Given the description of an element on the screen output the (x, y) to click on. 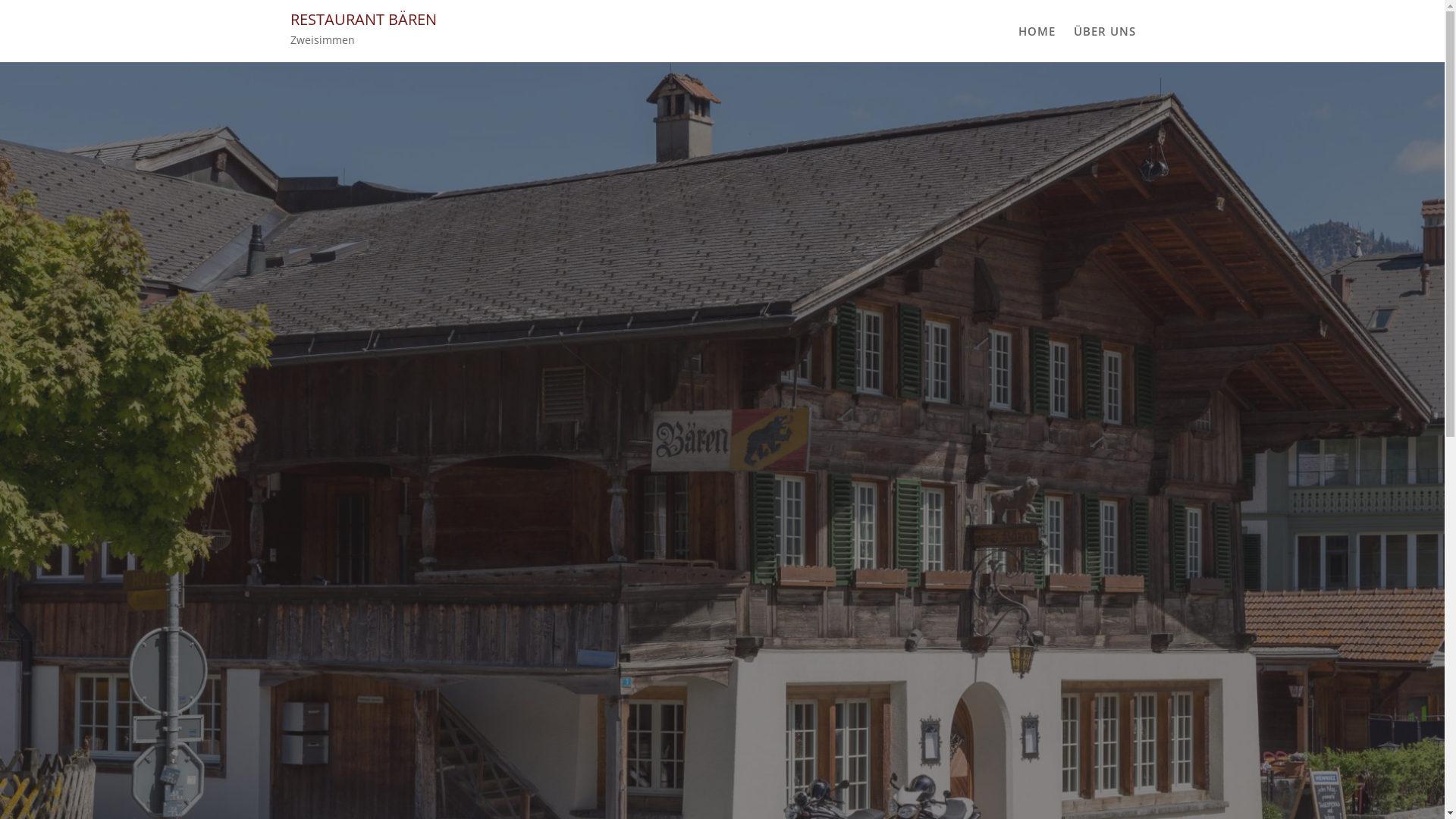
HOME Element type: text (1036, 30)
